Given the description of an element on the screen output the (x, y) to click on. 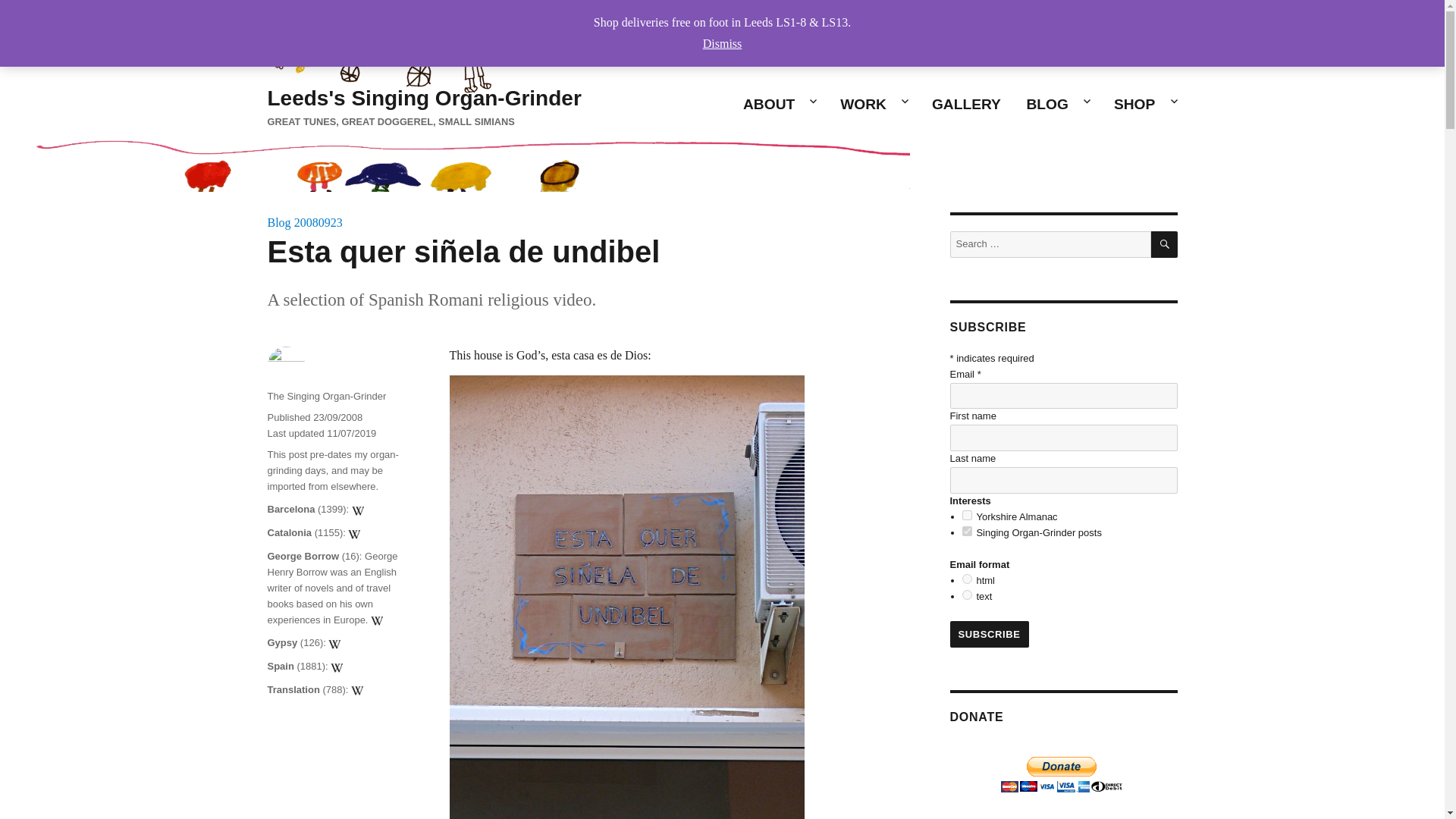
html (967, 578)
1 (967, 515)
text (967, 594)
Subscribe (988, 633)
SHOP (1144, 103)
09 (324, 222)
ABOUT (778, 103)
Leeds's Singing Organ-Grinder (423, 97)
2 (967, 531)
GALLERY (965, 103)
BLOG (1056, 103)
PayPal - The safer, easier way to pay online! (1061, 774)
2008 (306, 222)
WORK (872, 103)
Blog (277, 222)
